Given the description of an element on the screen output the (x, y) to click on. 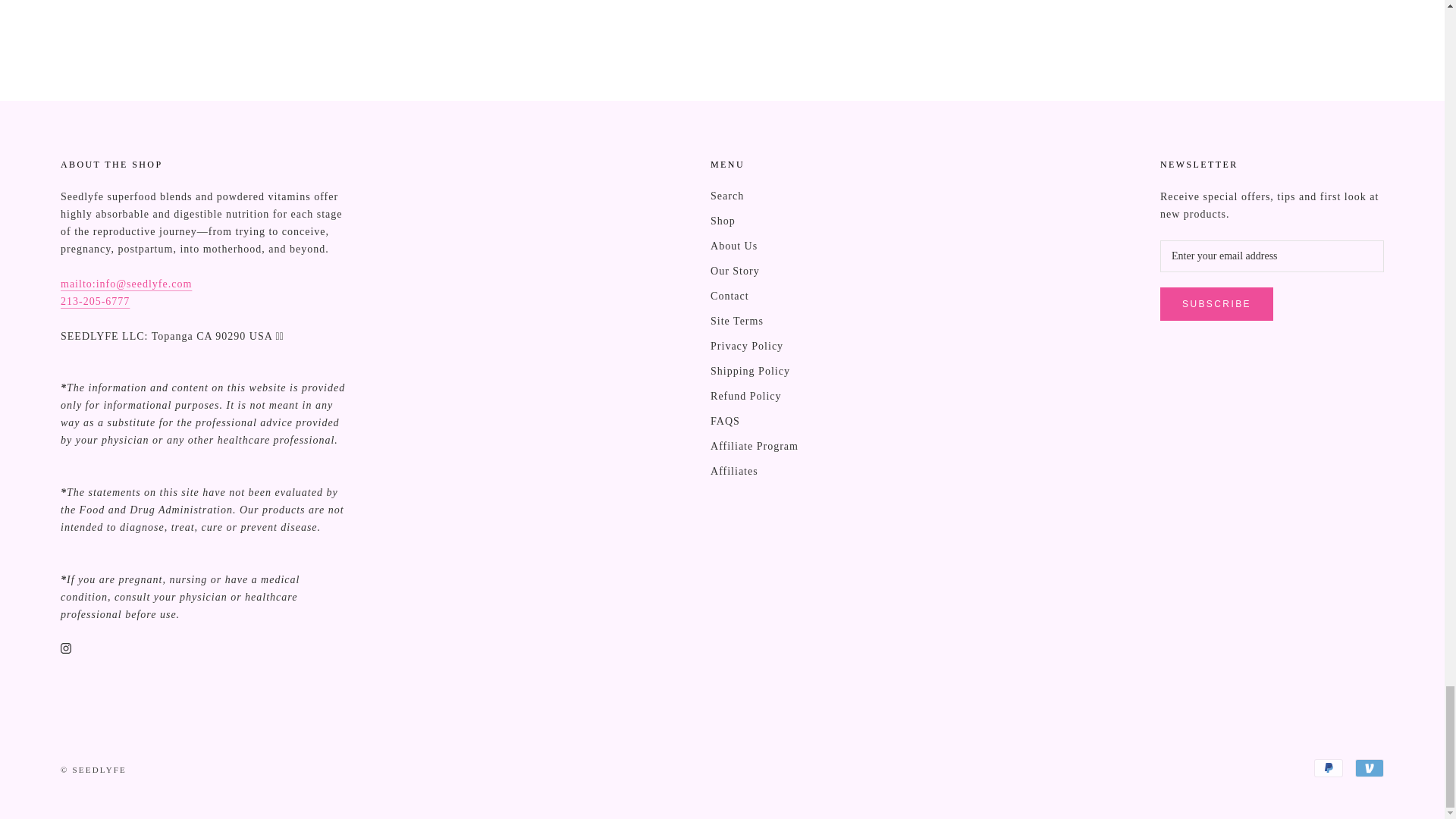
tel:310-795-9995 (95, 301)
PayPal (1328, 768)
Venmo (1369, 768)
